Given the description of an element on the screen output the (x, y) to click on. 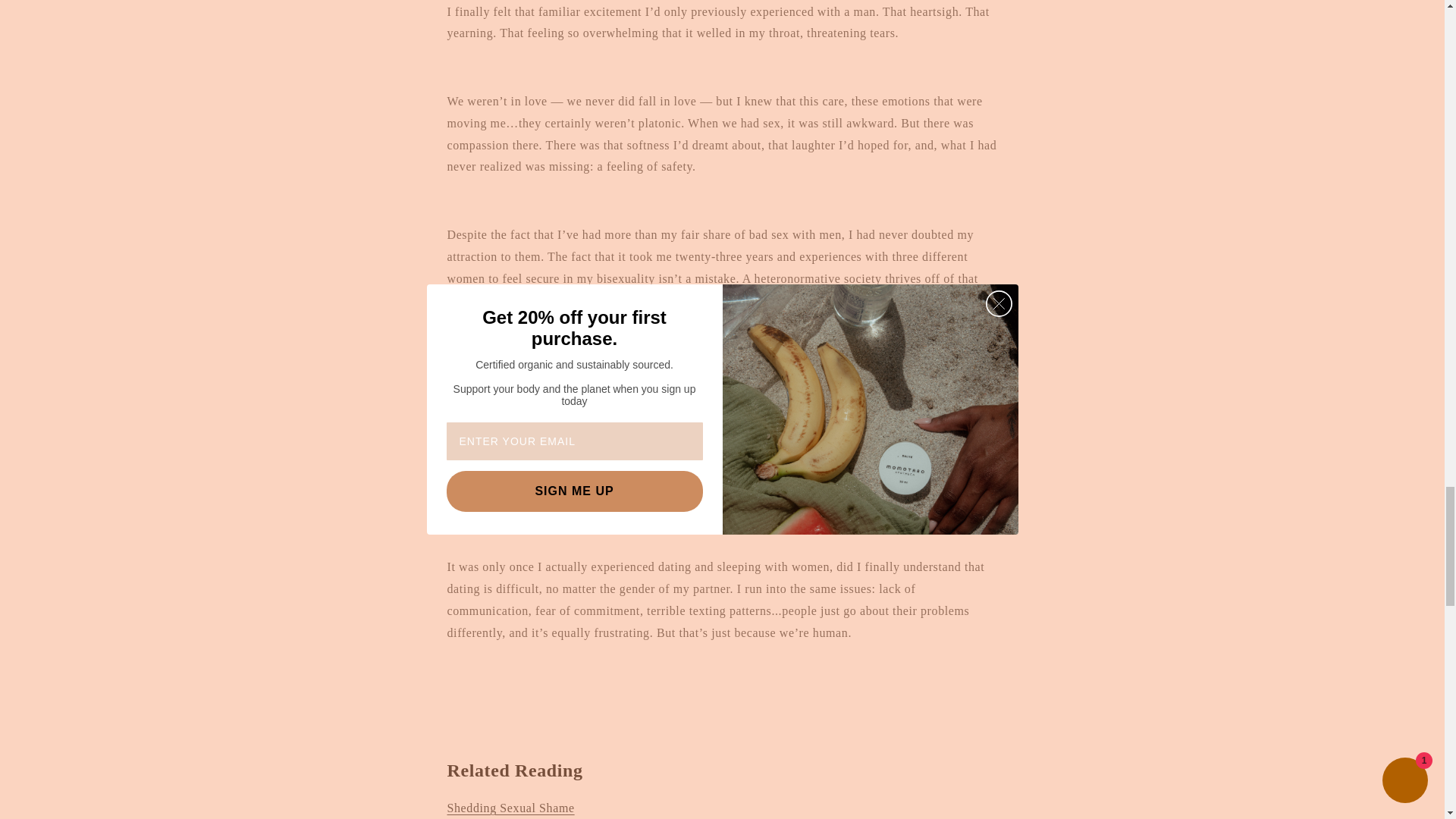
A New Kind of Pride for the Queer Community (771, 321)
Shedding Sexual Shame (510, 807)
